Given the description of an element on the screen output the (x, y) to click on. 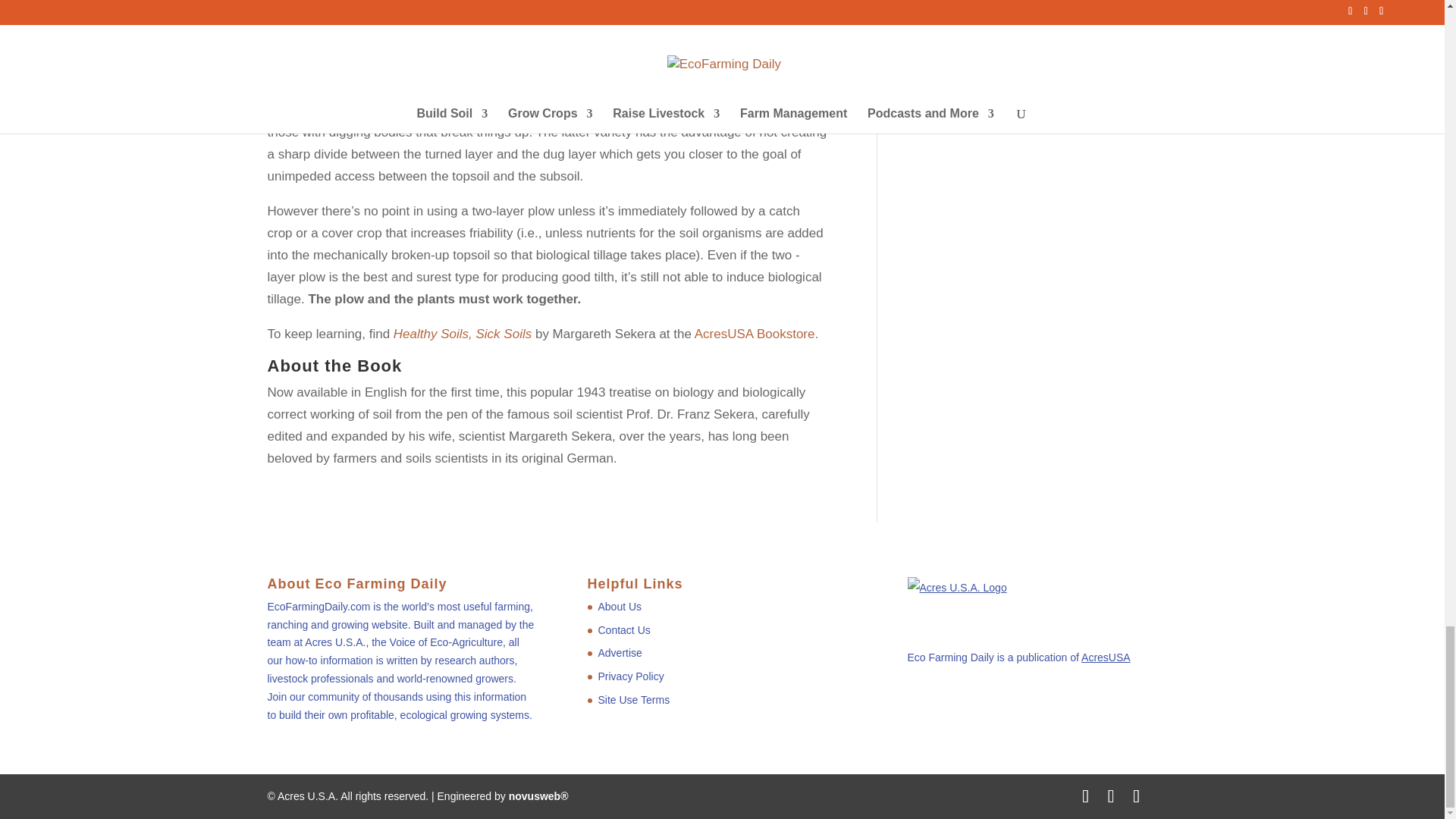
Privacy Policy (629, 676)
Healthy Soils, Sick Soils (462, 333)
Contact Us (622, 630)
Advertise (619, 653)
Site Use Terms (632, 699)
AcresUSA Bookstore. (756, 333)
About Us (619, 606)
The Art and Science of eCommerce (538, 796)
